Given the description of an element on the screen output the (x, y) to click on. 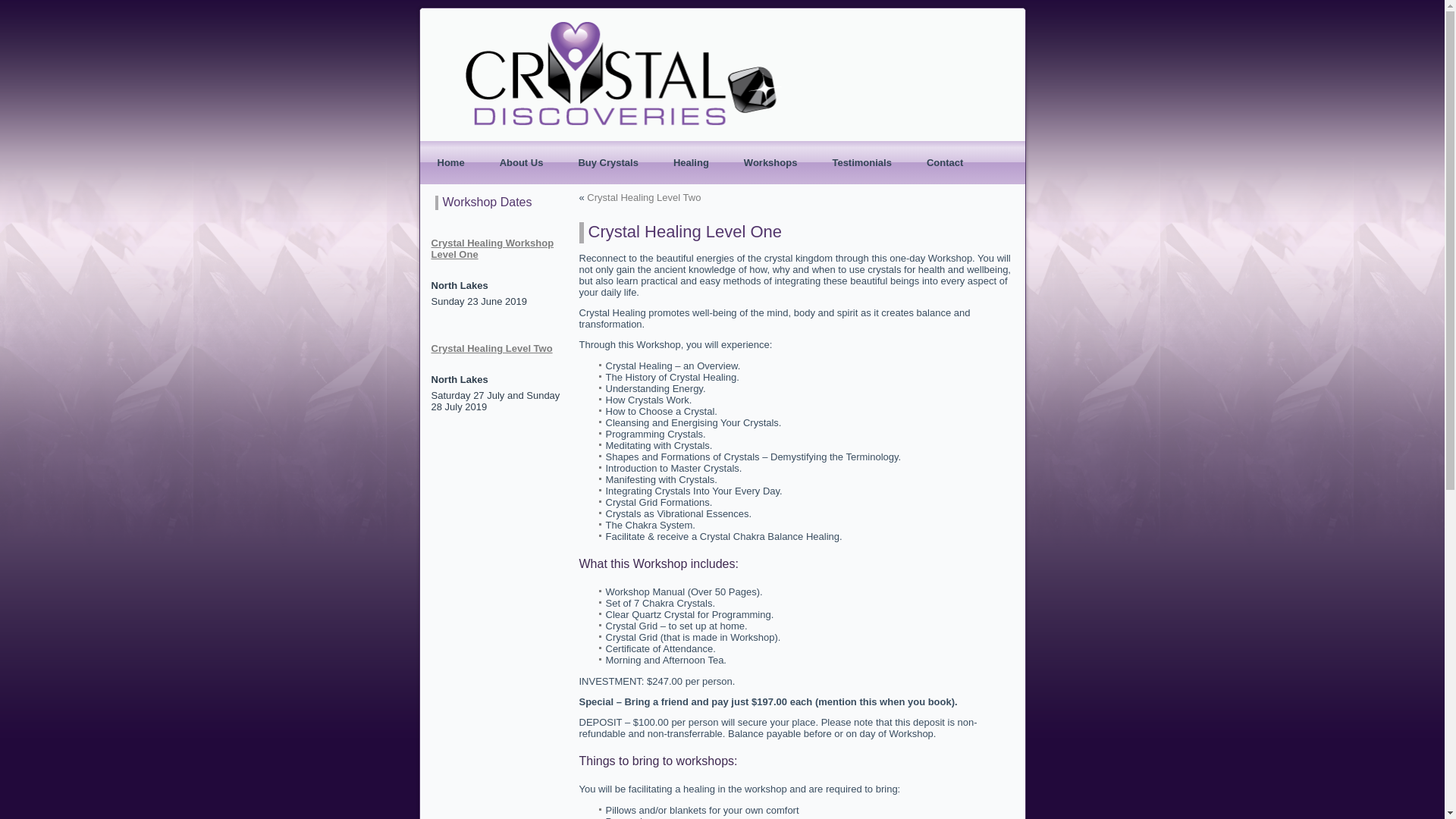
Crystal Healing Level Two Element type: text (643, 197)
Testimonials Element type: text (861, 162)
Crystal Healing Workshop Level One Element type: text (491, 248)
Buy Crystals Element type: text (607, 162)
Healing Element type: text (690, 162)
Crystal Healing Level Two Element type: text (491, 348)
Workshops Element type: text (770, 162)
Home Element type: text (450, 162)
Contact Element type: text (944, 162)
About Us Element type: text (521, 162)
